Given the description of an element on the screen output the (x, y) to click on. 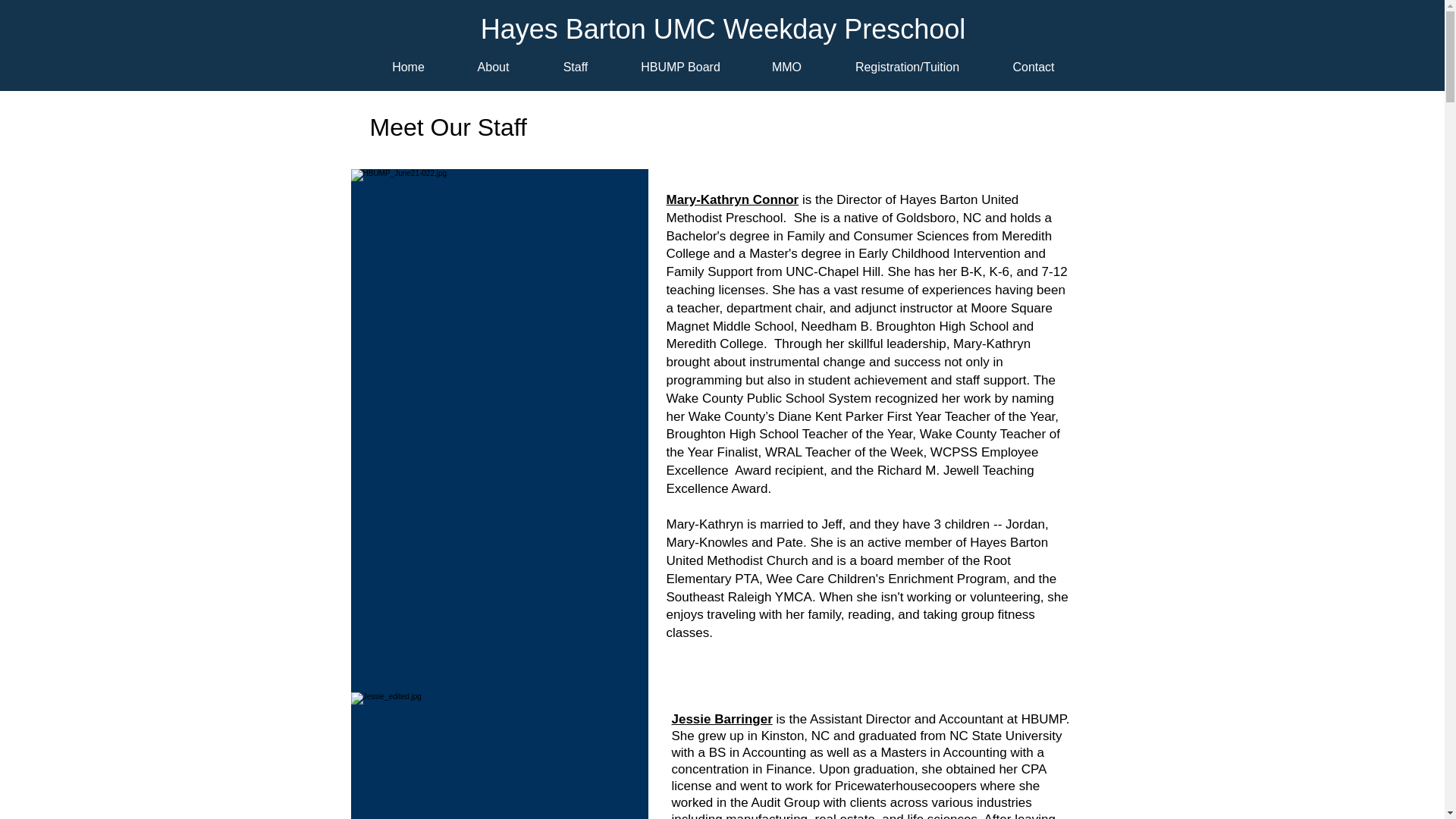
HBUMP Board (680, 66)
About (492, 66)
Mary-Kathryn Connor (731, 199)
Staff (574, 66)
Hayes Barton UMC Weekday Preschool (723, 29)
Jessie Barringer (722, 718)
Home (407, 66)
Contact (1033, 66)
MMO (786, 66)
